Given the description of an element on the screen output the (x, y) to click on. 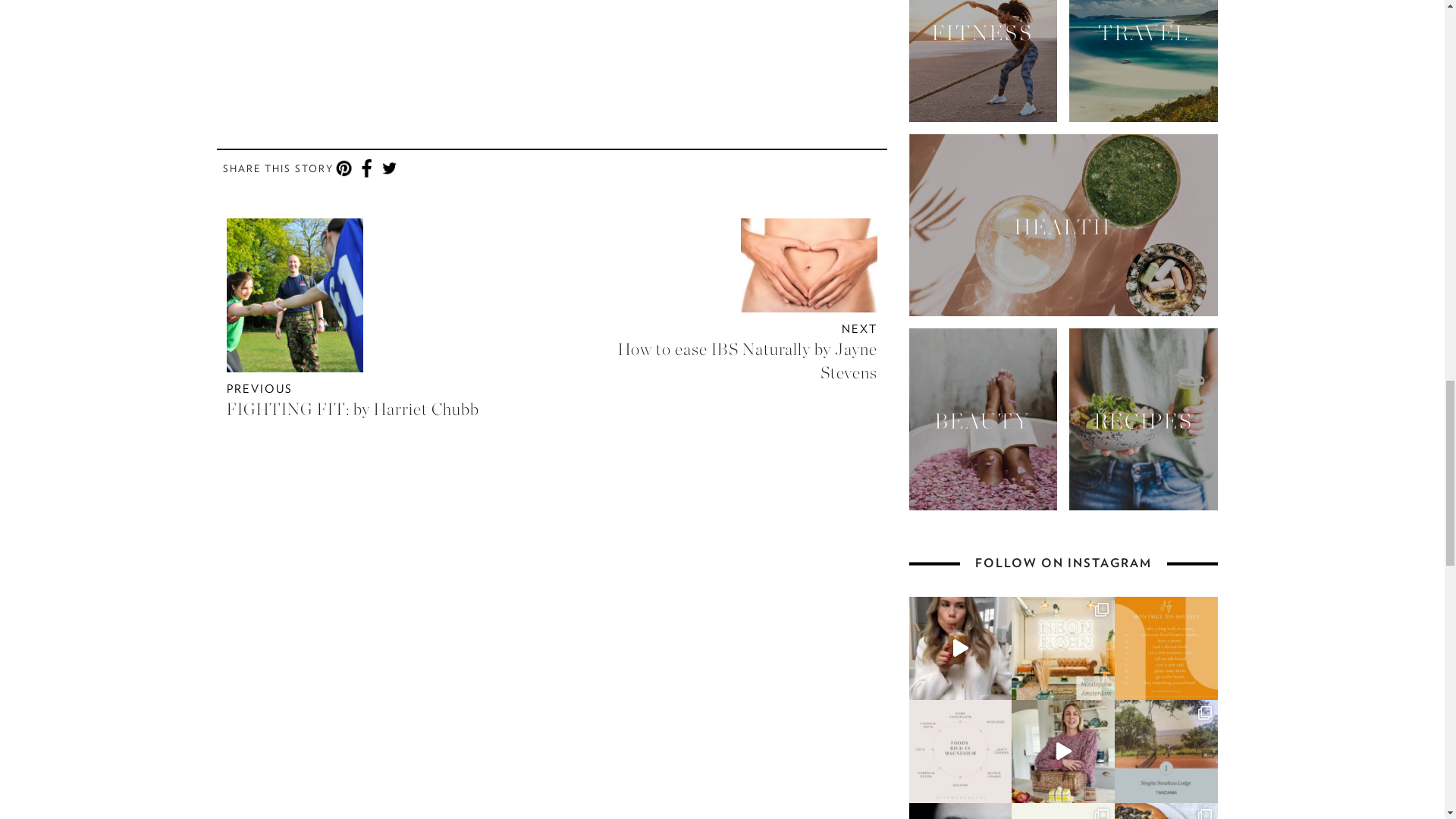
We Love Pukka (523, 47)
